Given the description of an element on the screen output the (x, y) to click on. 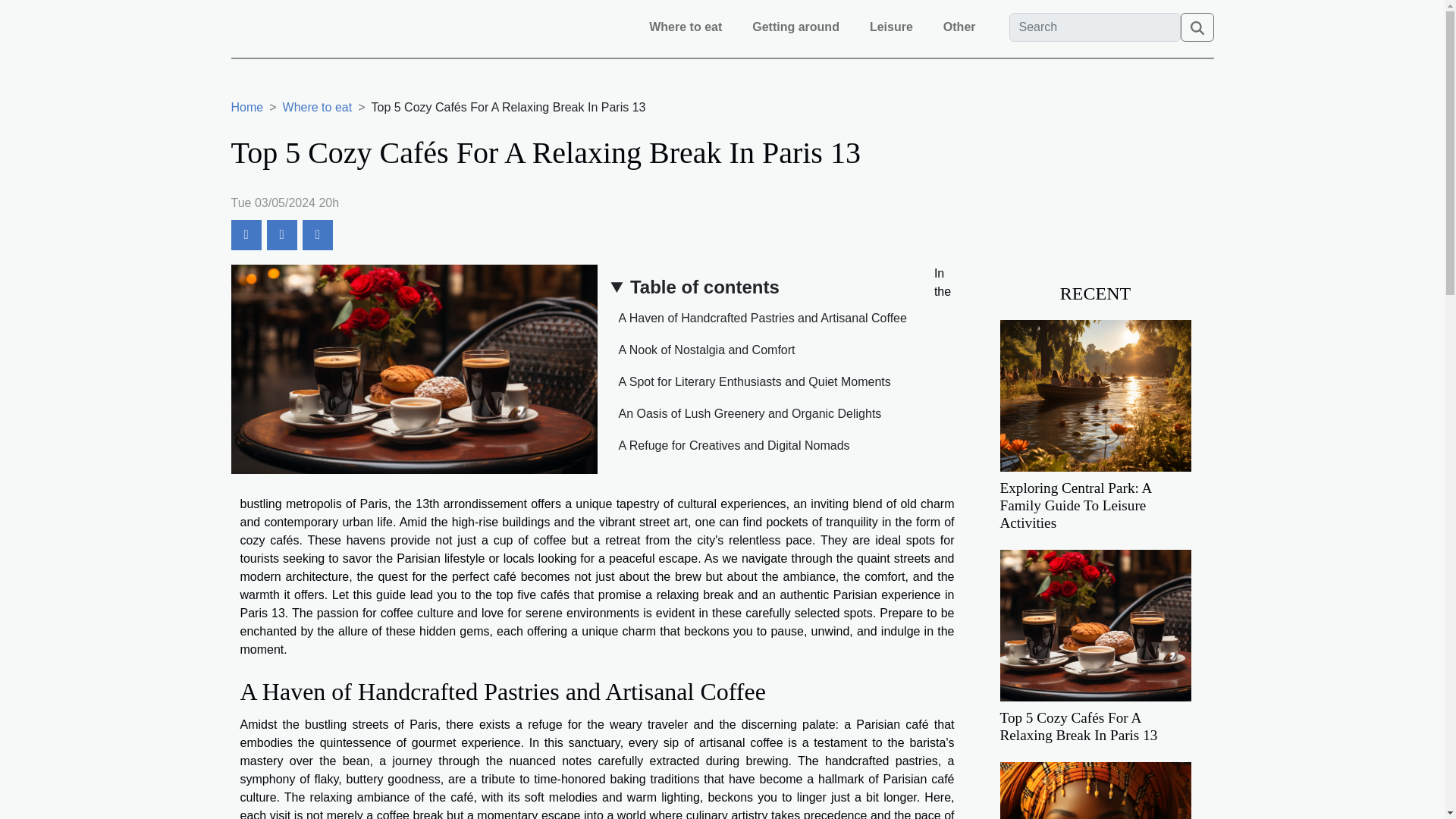
Where to eat (317, 106)
Exploring Central Park: A Family Guide To Leisure Activities (1094, 394)
Getting around (795, 27)
Where to eat (685, 27)
Where to eat (317, 106)
An Oasis of Lush Greenery and Organic Delights (746, 413)
A Spot for Literary Enthusiasts and Quiet Moments (751, 381)
Leisure (890, 27)
A Nook of Nostalgia and Comfort (702, 349)
Other (959, 27)
